Given the description of an element on the screen output the (x, y) to click on. 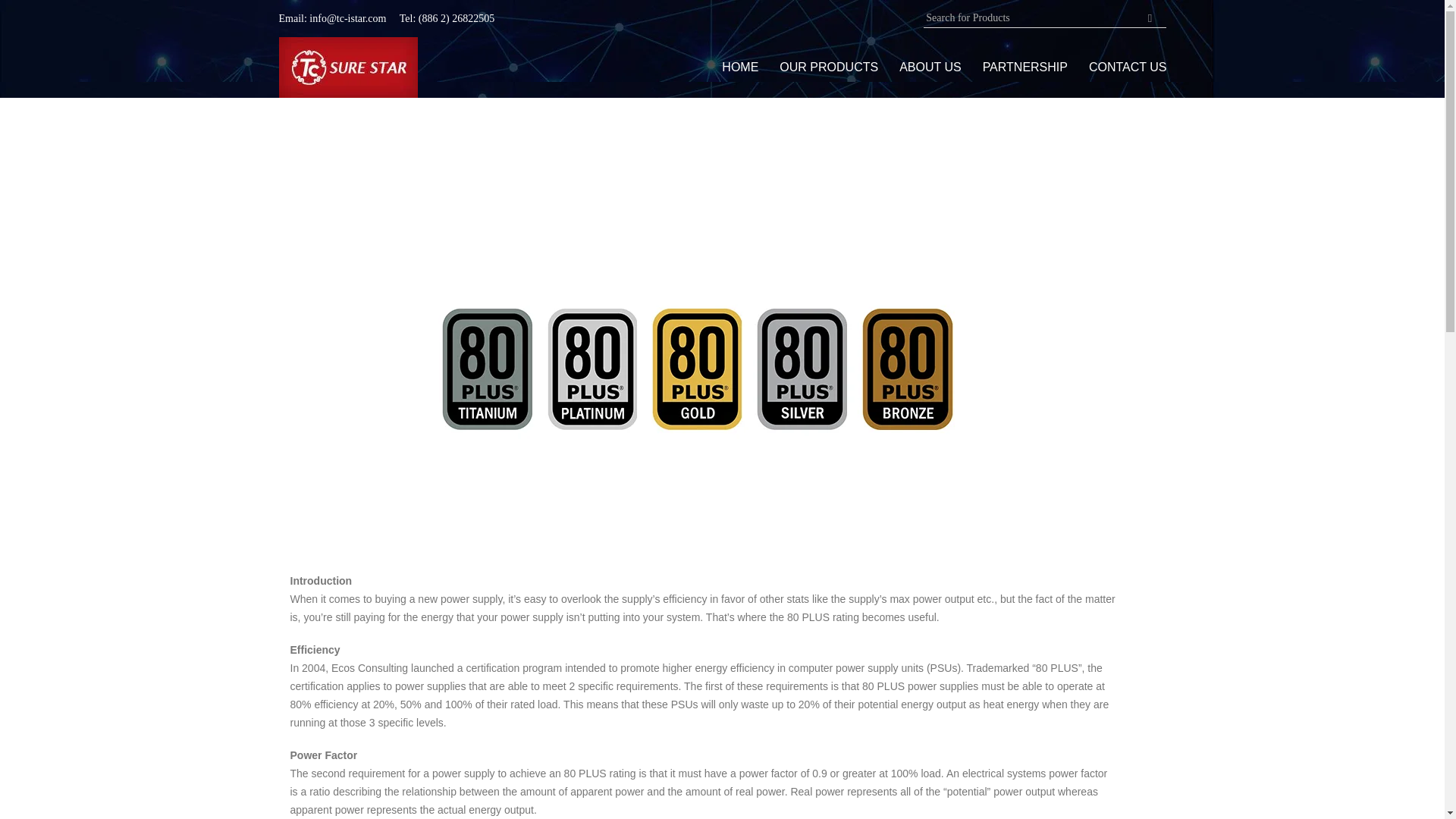
DynaPowerUSA (348, 66)
ABOUT US (929, 66)
OUR PRODUCTS (827, 66)
PARTNERSHIP (1024, 66)
HOME (740, 66)
CONTACT US (1128, 66)
